Given the description of an element on the screen output the (x, y) to click on. 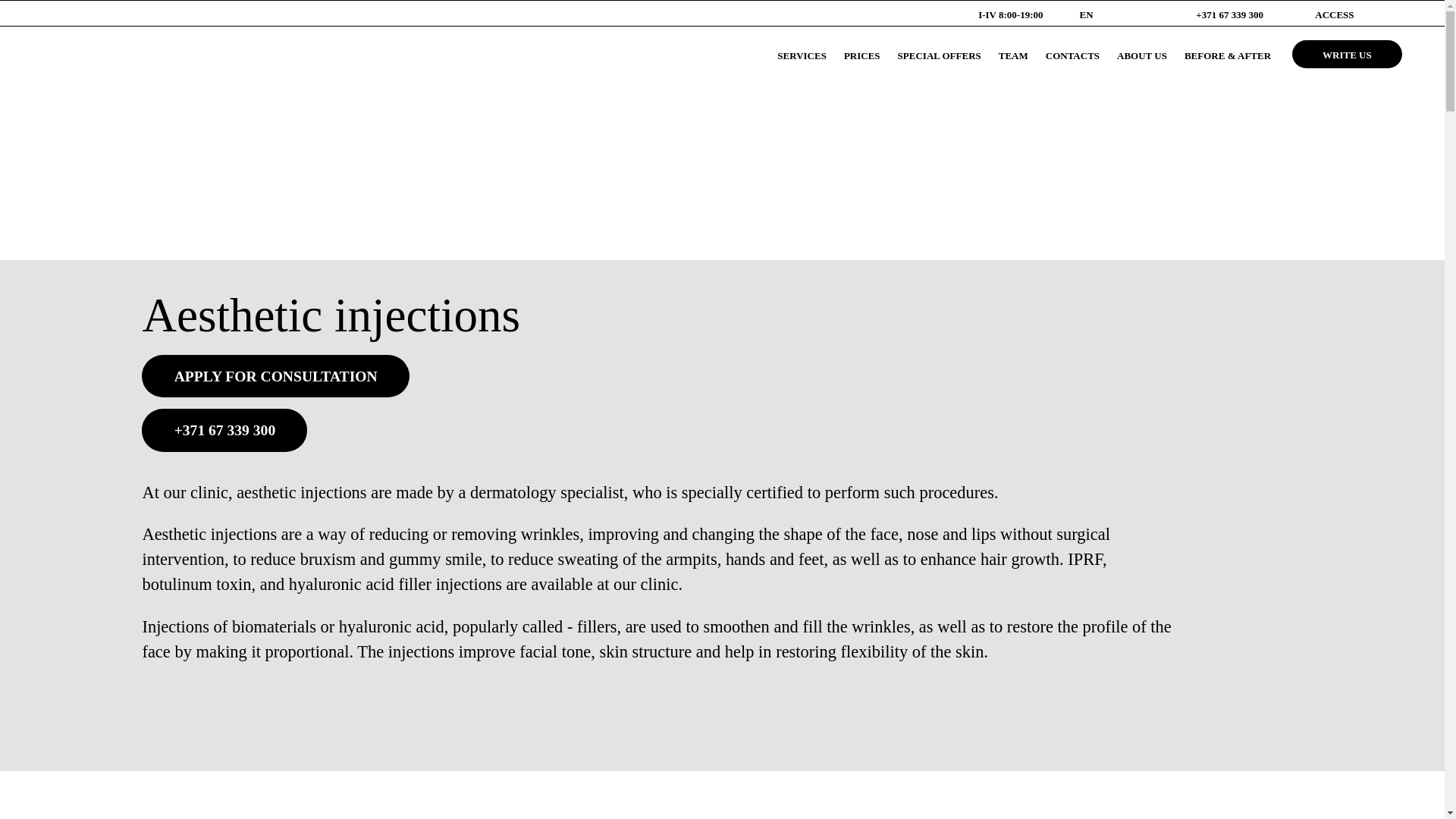
SERVICES (802, 55)
CONTACTS (1072, 55)
APPLY FOR CONSULTATION (275, 375)
SPECIAL OFFERS (939, 55)
PRICES (862, 55)
TEAM (1012, 55)
ABOUT US (1141, 55)
